Given the description of an element on the screen output the (x, y) to click on. 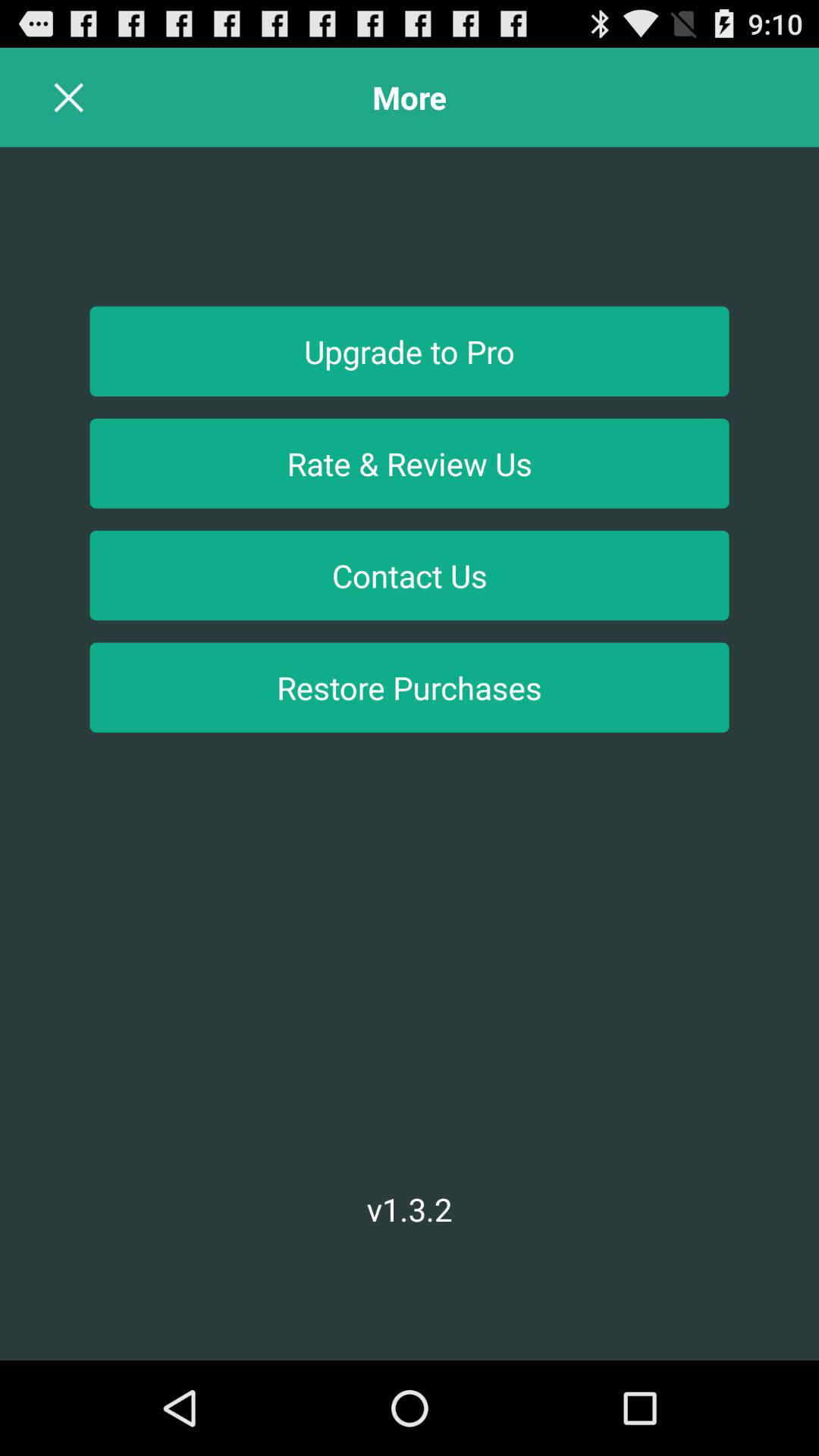
leave page (69, 97)
